Given the description of an element on the screen output the (x, y) to click on. 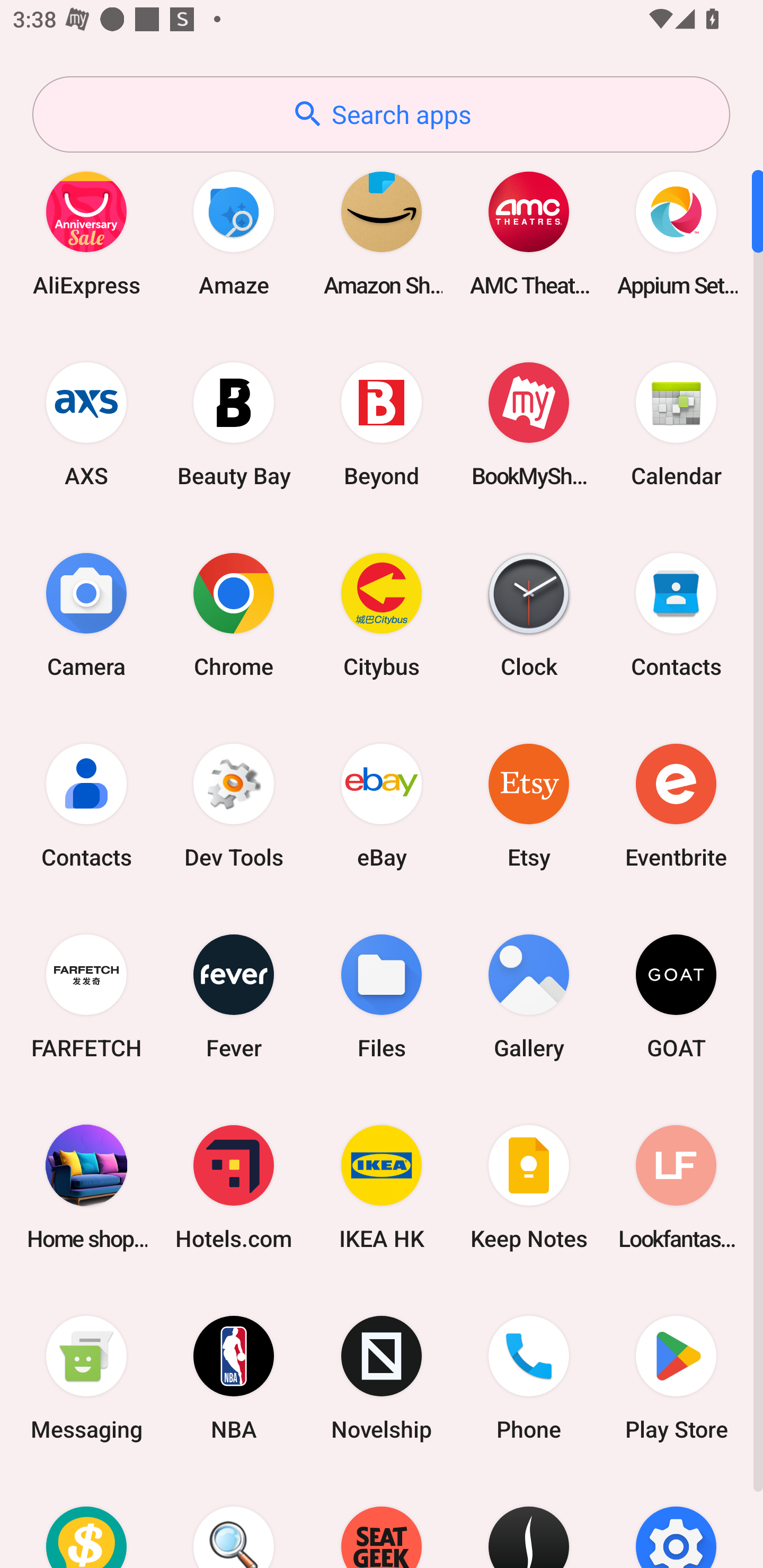
  Search apps (381, 114)
AliExpress (86, 233)
Amaze (233, 233)
Amazon Shopping (381, 233)
AMC Theatres (528, 233)
Appium Settings (676, 233)
AXS (86, 424)
Beauty Bay (233, 424)
Beyond (381, 424)
BookMyShow (528, 424)
Calendar (676, 424)
Camera (86, 614)
Chrome (233, 614)
Citybus (381, 614)
Clock (528, 614)
Contacts (676, 614)
Contacts (86, 805)
Dev Tools (233, 805)
eBay (381, 805)
Etsy (528, 805)
Eventbrite (676, 805)
FARFETCH (86, 996)
Fever (233, 996)
Files (381, 996)
Gallery (528, 996)
GOAT (676, 996)
Home shopping (86, 1186)
Hotels.com (233, 1186)
IKEA HK (381, 1186)
Keep Notes (528, 1186)
Lookfantastic (676, 1186)
Messaging (86, 1377)
NBA (233, 1377)
Novelship (381, 1377)
Phone (528, 1377)
Play Store (676, 1377)
Price (86, 1520)
Search (233, 1520)
SeatGeek (381, 1520)
Sephora (528, 1520)
Settings (676, 1520)
